Given the description of an element on the screen output the (x, y) to click on. 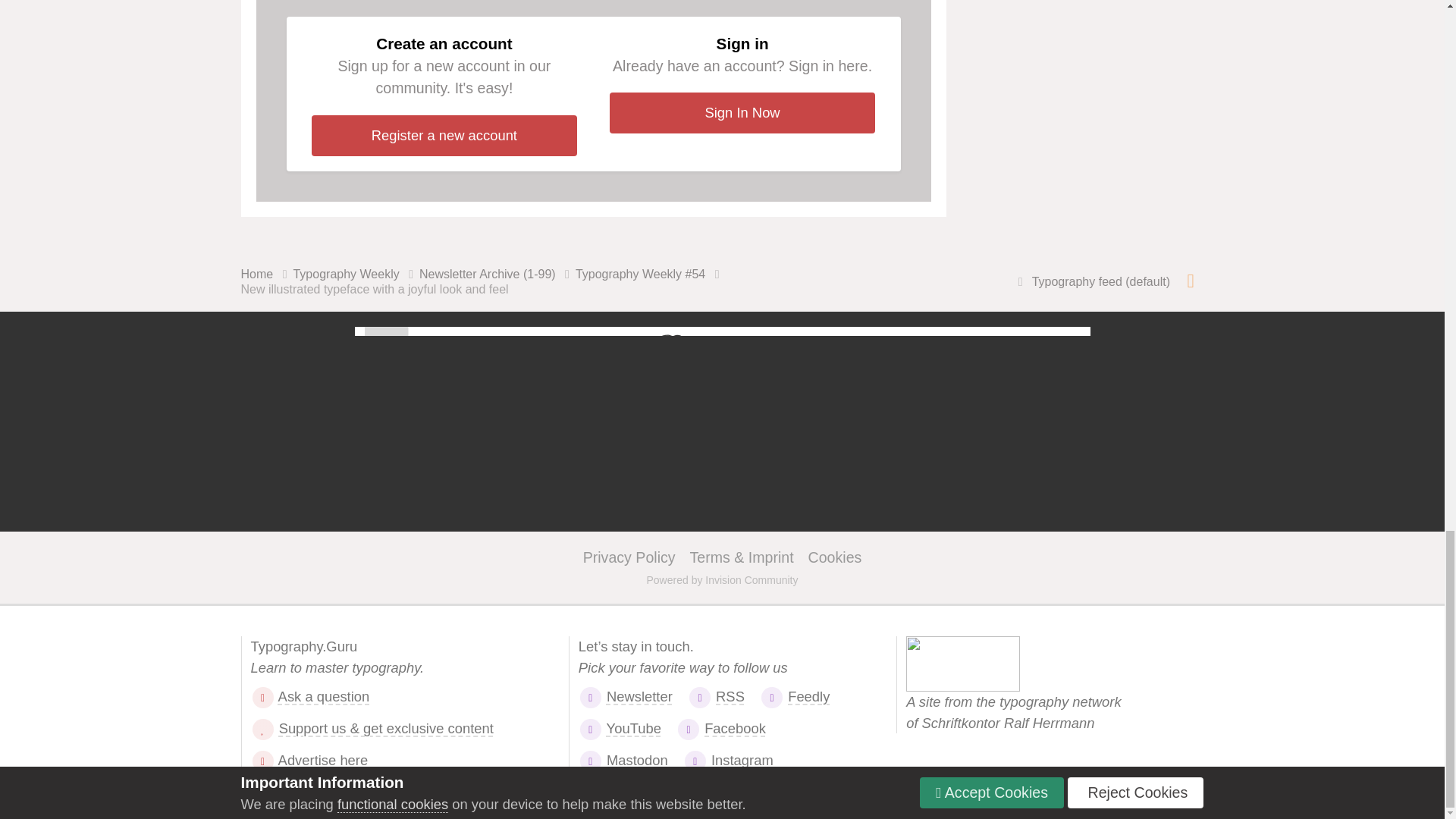
Invision Community (721, 580)
Available RSS feeds (1190, 280)
Home (267, 274)
